Given the description of an element on the screen output the (x, y) to click on. 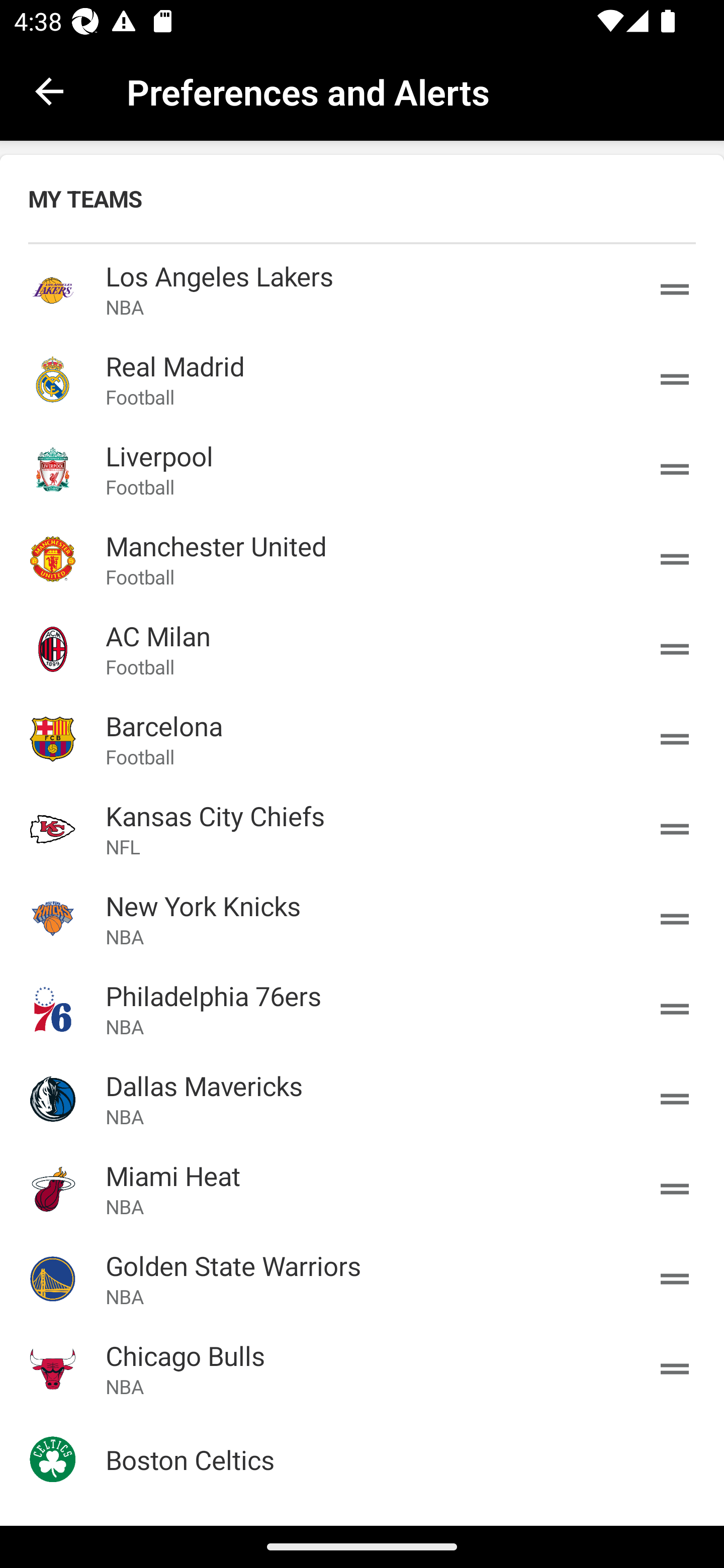
back.button (49, 90)
Liverpool Liverpool Liverpool Football Football (362, 469)
AC Milan AC Milan AC Milan Football Football (362, 648)
Barcelona Barcelona Barcelona Football Football (362, 739)
Miami Heat Miami Heat Miami Heat NBA NBA (362, 1188)
Chicago Bulls Chicago Bulls Chicago Bulls NBA NBA (362, 1368)
Boston Celtics Boston Celtics Boston Celtics (362, 1459)
